Given the description of an element on the screen output the (x, y) to click on. 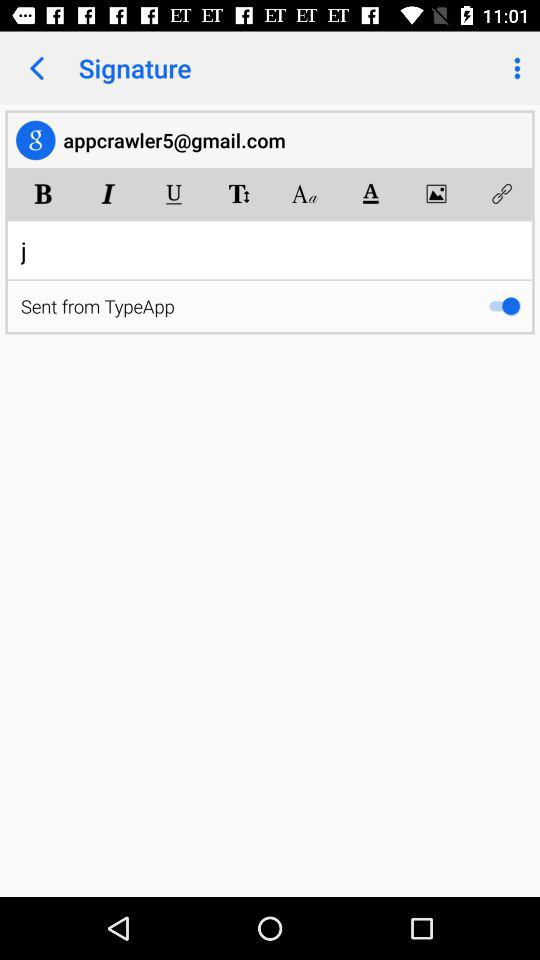
select the item to the right of the sent from typeapp app (504, 305)
